Given the description of an element on the screen output the (x, y) to click on. 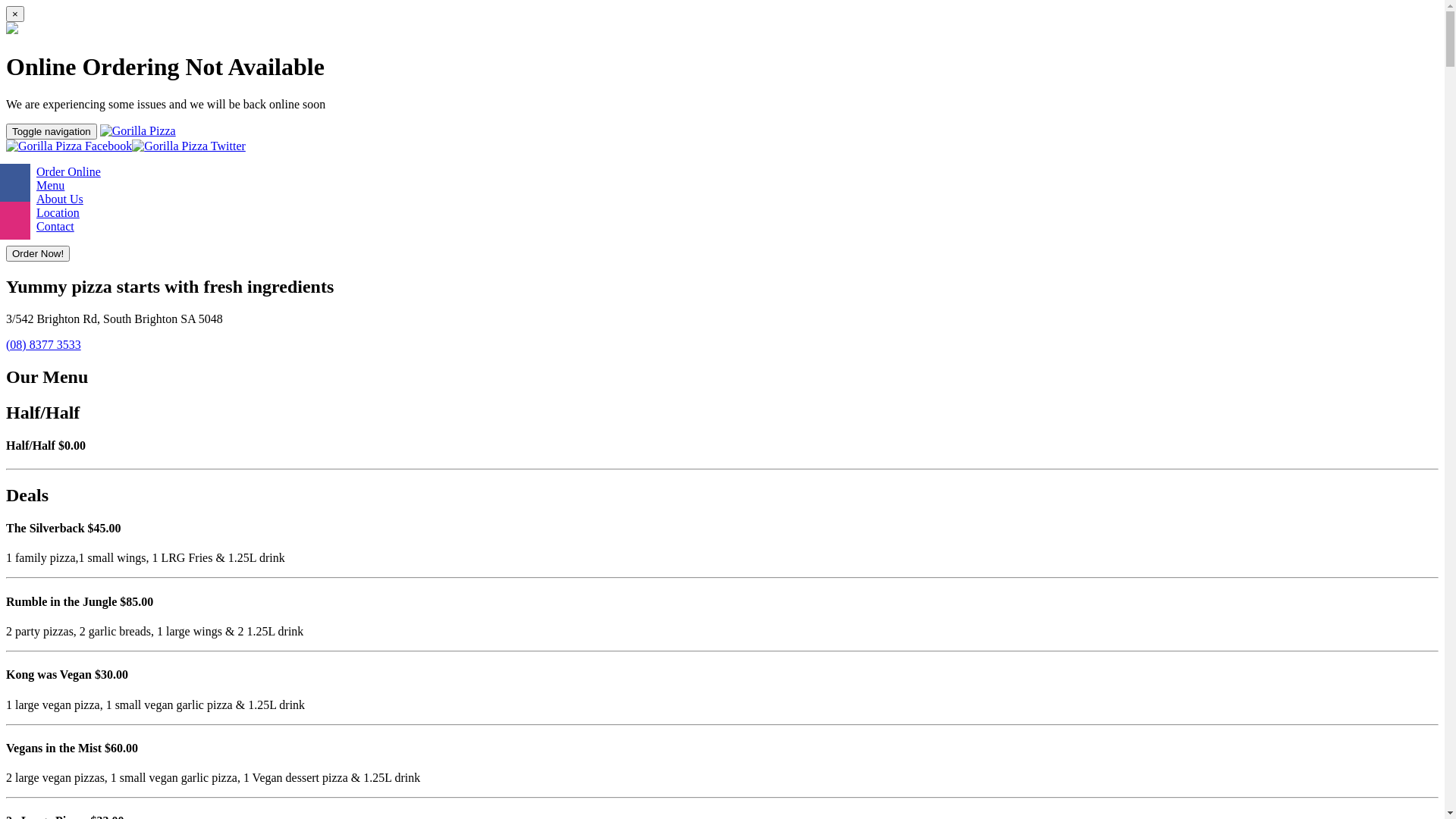
About Us Element type: text (59, 198)
Menu Element type: text (50, 184)
Order Now! Element type: text (37, 253)
Contact Element type: text (55, 225)
Location Element type: text (57, 212)
Share on Facebook Element type: hover (15, 182)
Order Now! Element type: text (37, 252)
(08) 8377 3533 Element type: text (43, 344)
Order Online Element type: text (68, 171)
Toggle navigation Element type: text (51, 131)
